Given the description of an element on the screen output the (x, y) to click on. 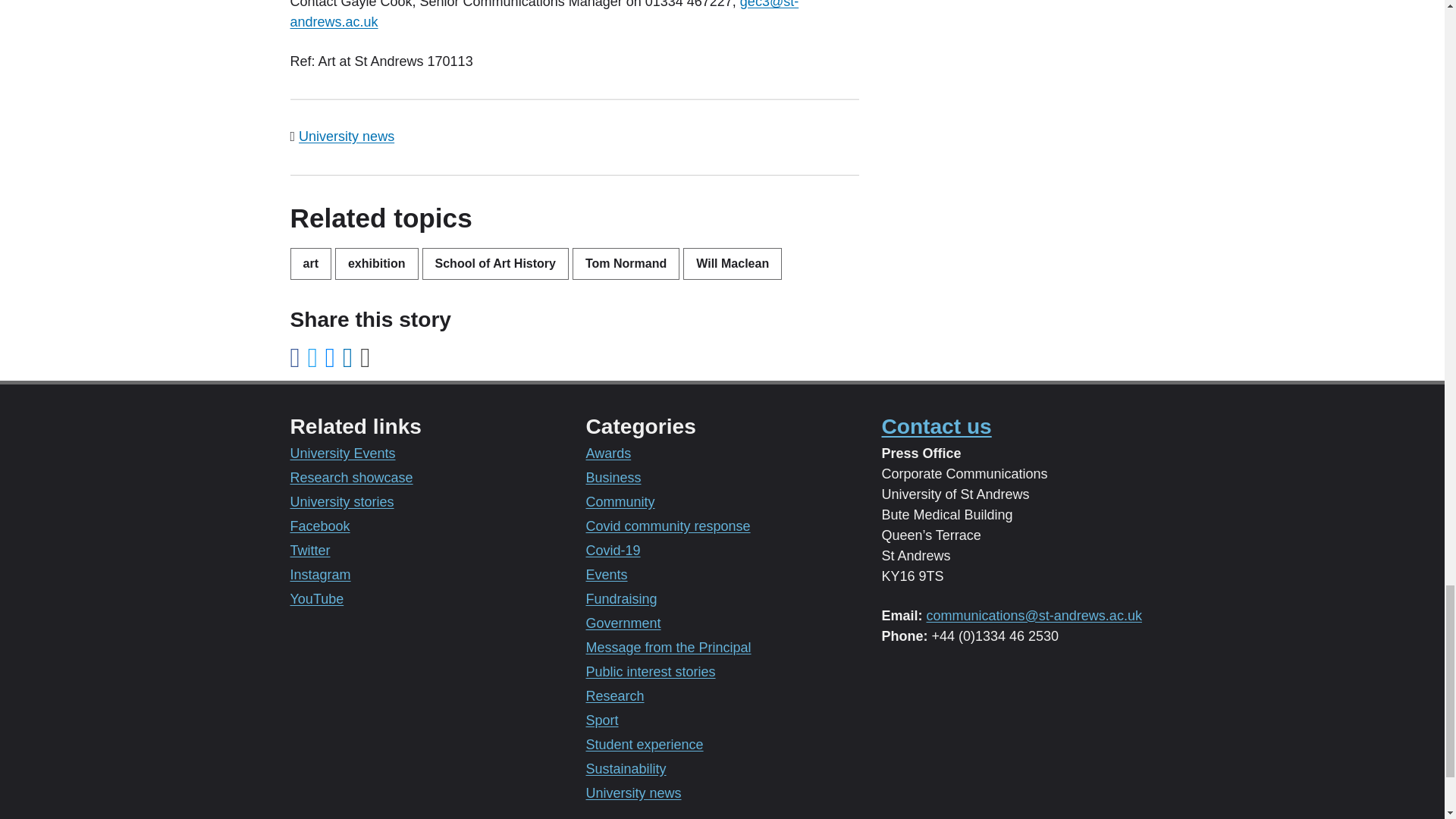
exhibition (376, 264)
Tom Normand (625, 264)
University news (346, 136)
School of Art History (495, 264)
art (309, 264)
Will Maclean (731, 264)
